Given the description of an element on the screen output the (x, y) to click on. 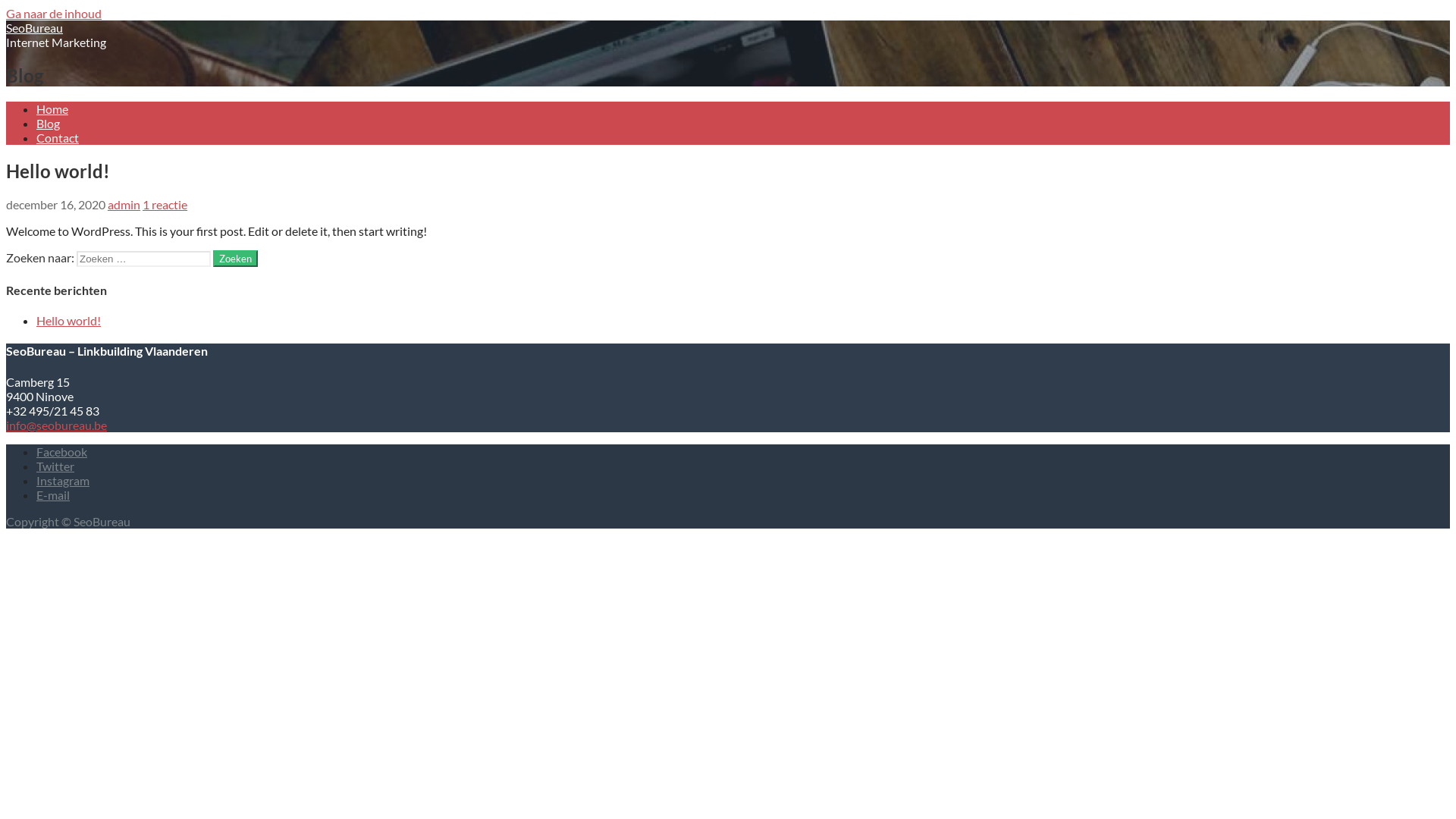
1 reactie Element type: text (164, 204)
E-mail Element type: text (52, 494)
Twitter Element type: text (55, 465)
Blog Element type: text (47, 123)
Zoeken Element type: text (235, 258)
Ga naar de inhoud Element type: text (53, 13)
Home Element type: text (52, 108)
Hello world! Element type: text (68, 320)
admin Element type: text (123, 204)
Instagram Element type: text (62, 480)
Contact Element type: text (57, 137)
Facebook Element type: text (61, 451)
SeoBureau Element type: text (34, 27)
info@seobureau.be Element type: text (56, 424)
